Given the description of an element on the screen output the (x, y) to click on. 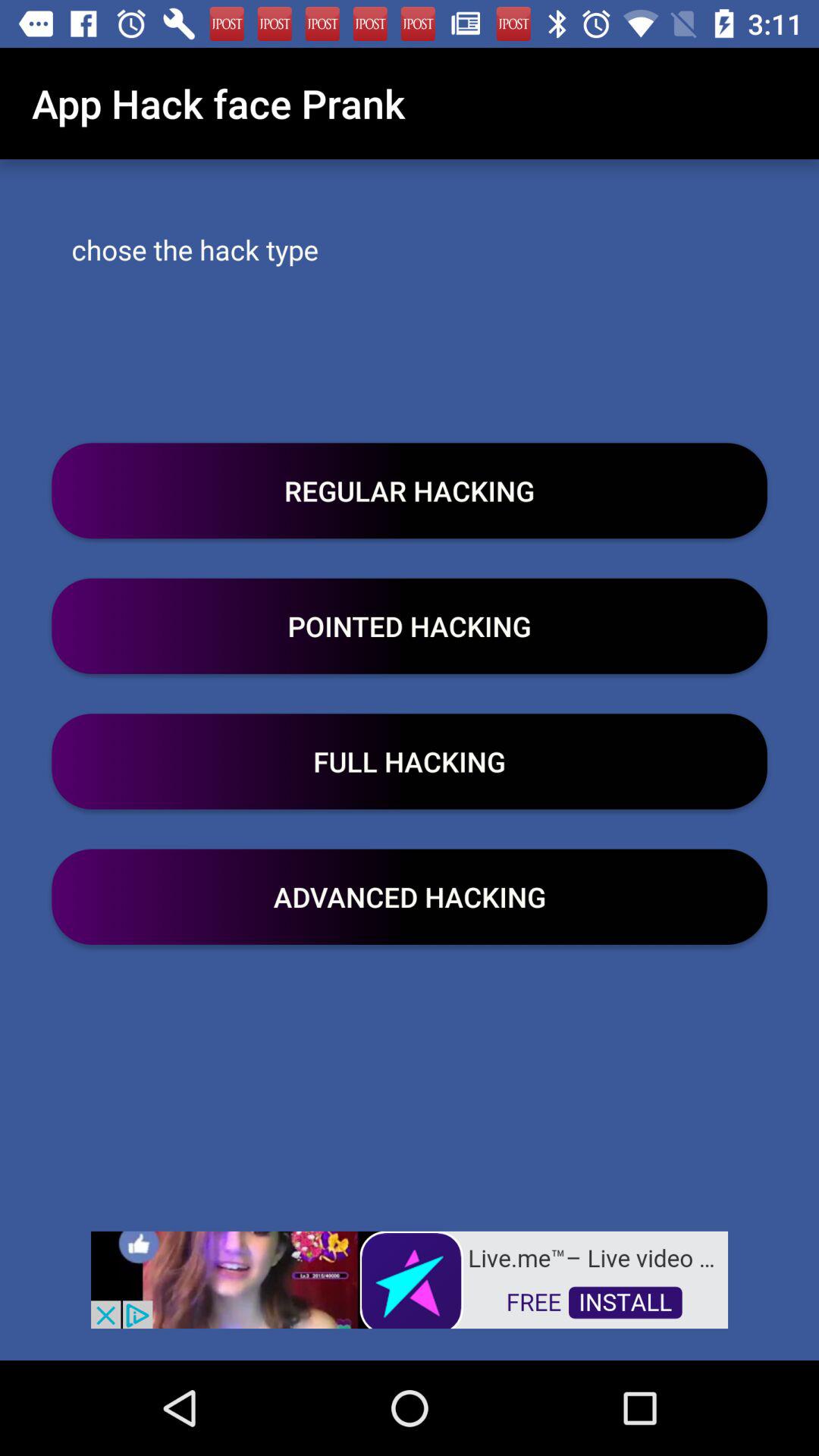
advertisement page (409, 1278)
